Given the description of an element on the screen output the (x, y) to click on. 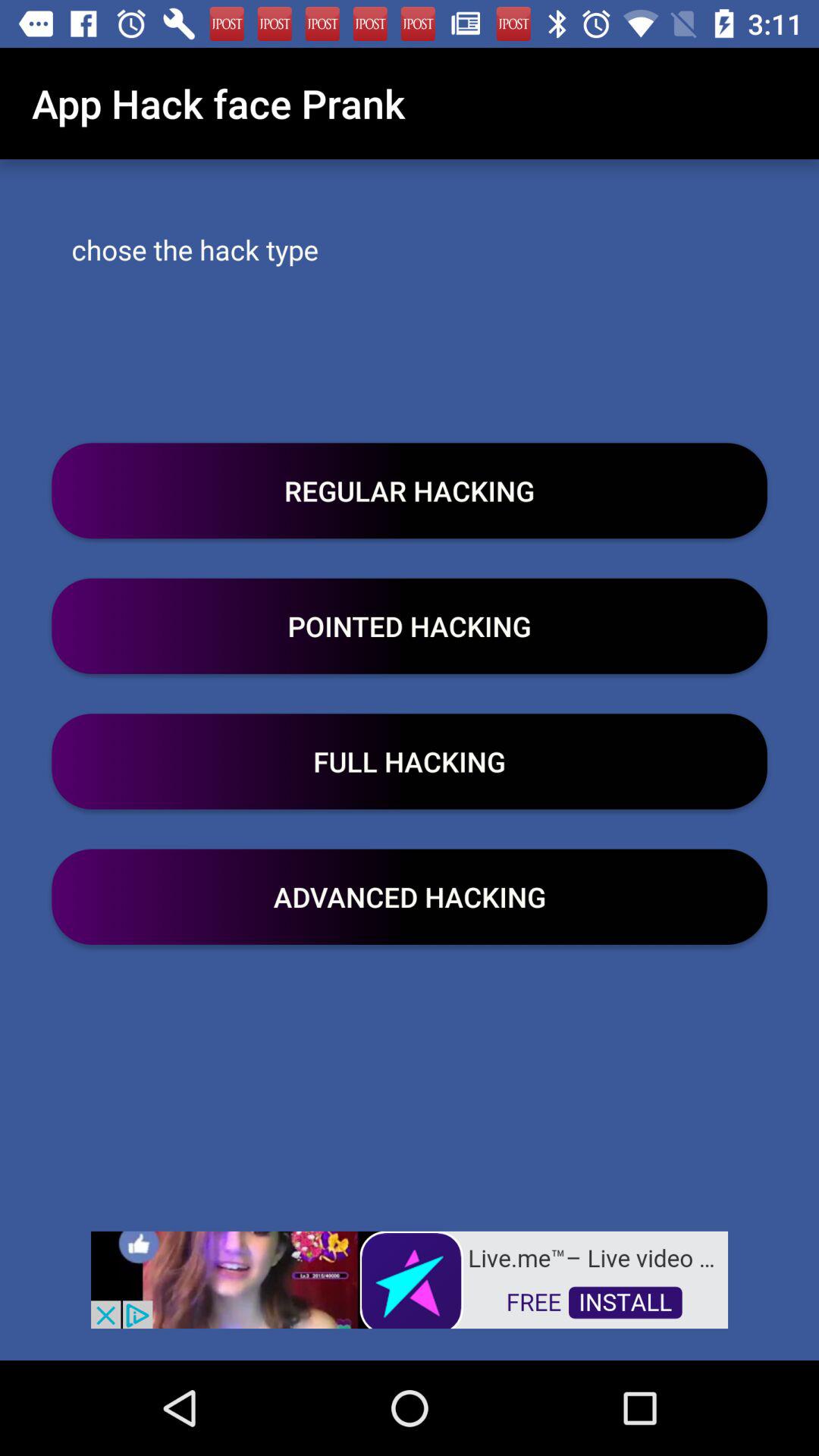
advertisement page (409, 1278)
